Given the description of an element on the screen output the (x, y) to click on. 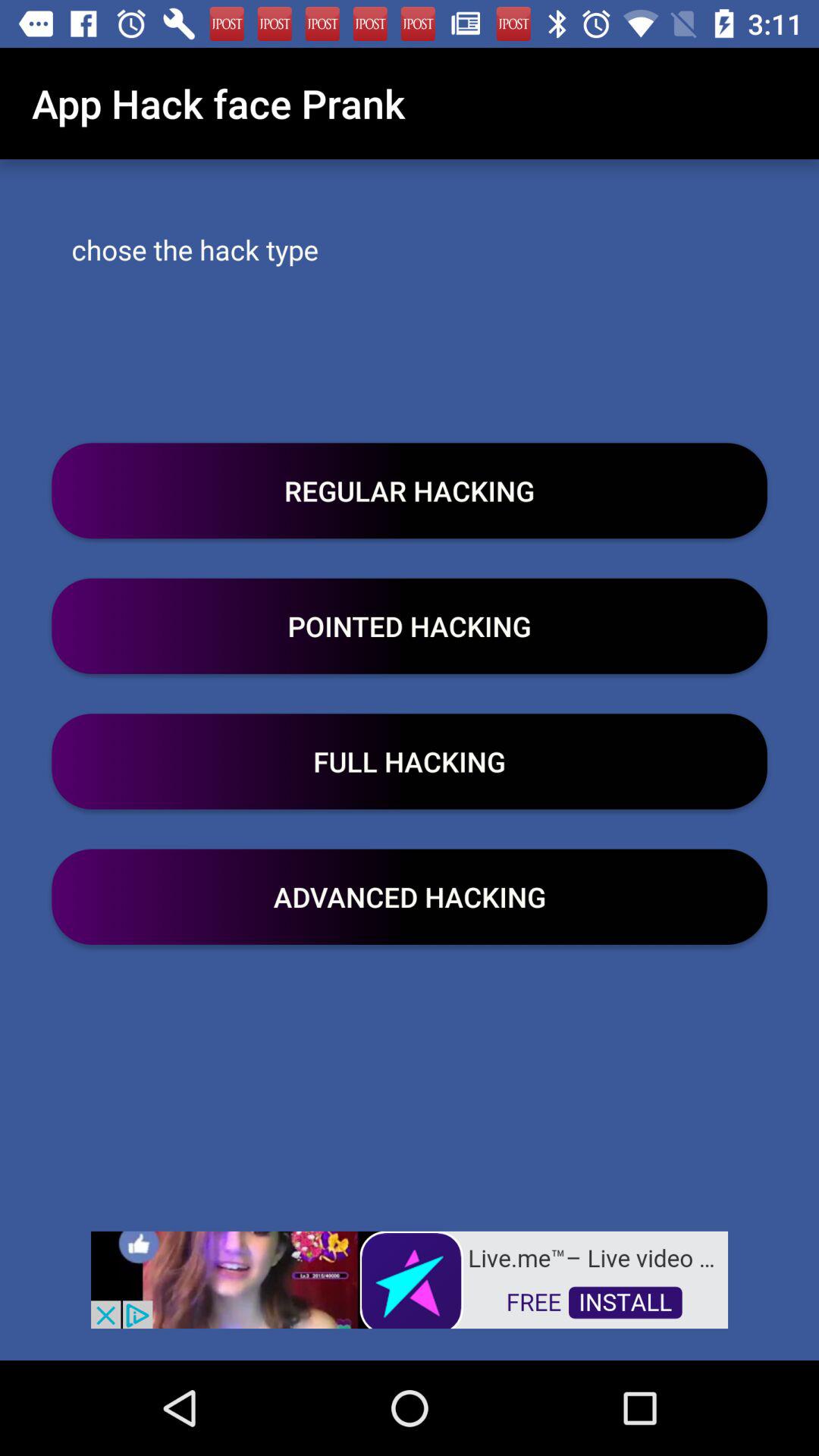
advertisement page (409, 1278)
